Given the description of an element on the screen output the (x, y) to click on. 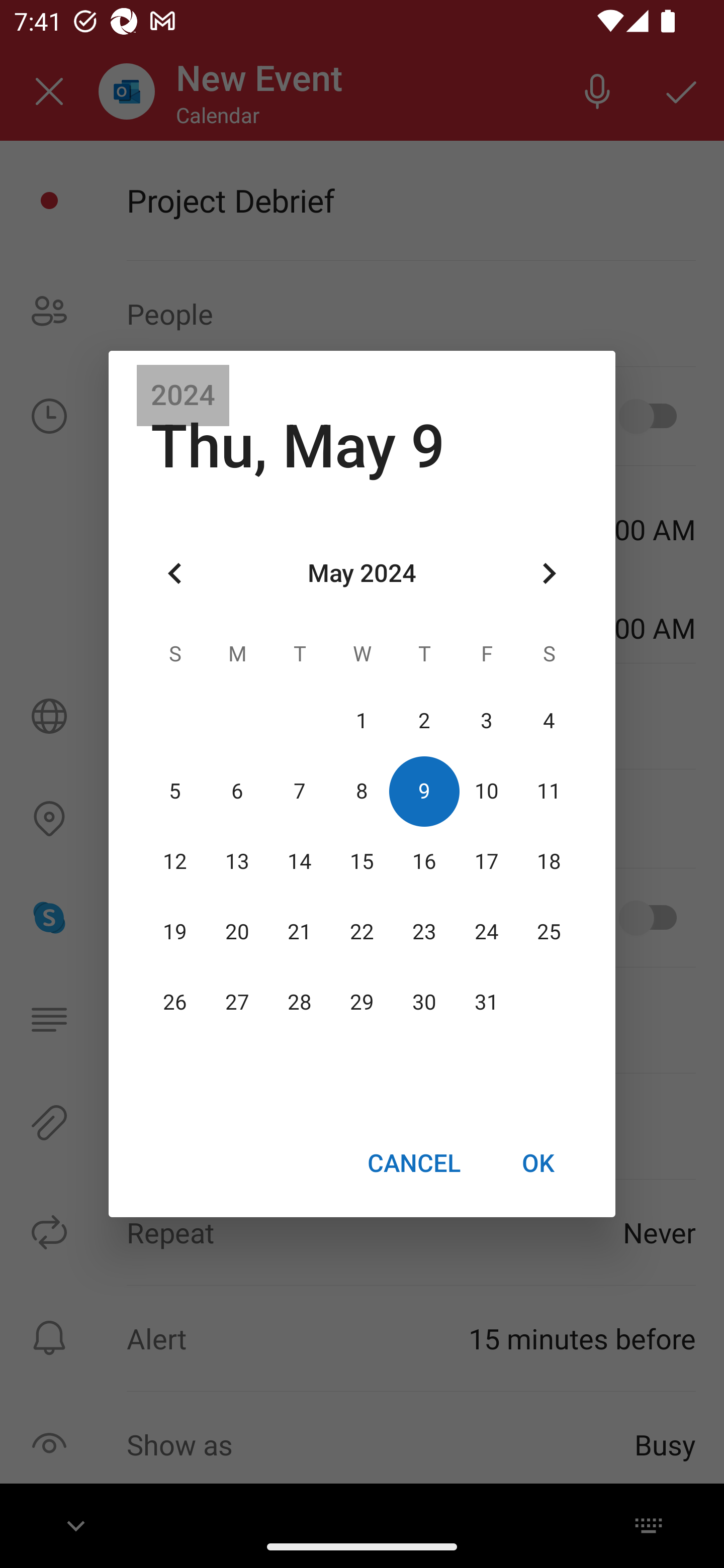
2024 (182, 395)
Thu, May 9 (297, 446)
Previous month (174, 573)
Next month (548, 573)
1 01 May 2024 (361, 720)
2 02 May 2024 (424, 720)
3 03 May 2024 (486, 720)
4 04 May 2024 (548, 720)
5 05 May 2024 (175, 790)
6 06 May 2024 (237, 790)
7 07 May 2024 (299, 790)
8 08 May 2024 (361, 790)
9 09 May 2024 (424, 790)
10 10 May 2024 (486, 790)
11 11 May 2024 (548, 790)
12 12 May 2024 (175, 861)
13 13 May 2024 (237, 861)
14 14 May 2024 (299, 861)
15 15 May 2024 (361, 861)
16 16 May 2024 (424, 861)
17 17 May 2024 (486, 861)
18 18 May 2024 (548, 861)
19 19 May 2024 (175, 931)
20 20 May 2024 (237, 931)
21 21 May 2024 (299, 931)
22 22 May 2024 (361, 931)
23 23 May 2024 (424, 931)
24 24 May 2024 (486, 931)
25 25 May 2024 (548, 931)
26 26 May 2024 (175, 1002)
27 27 May 2024 (237, 1002)
28 28 May 2024 (299, 1002)
29 29 May 2024 (361, 1002)
30 30 May 2024 (424, 1002)
31 31 May 2024 (486, 1002)
CANCEL (413, 1162)
OK (537, 1162)
